Given the description of an element on the screen output the (x, y) to click on. 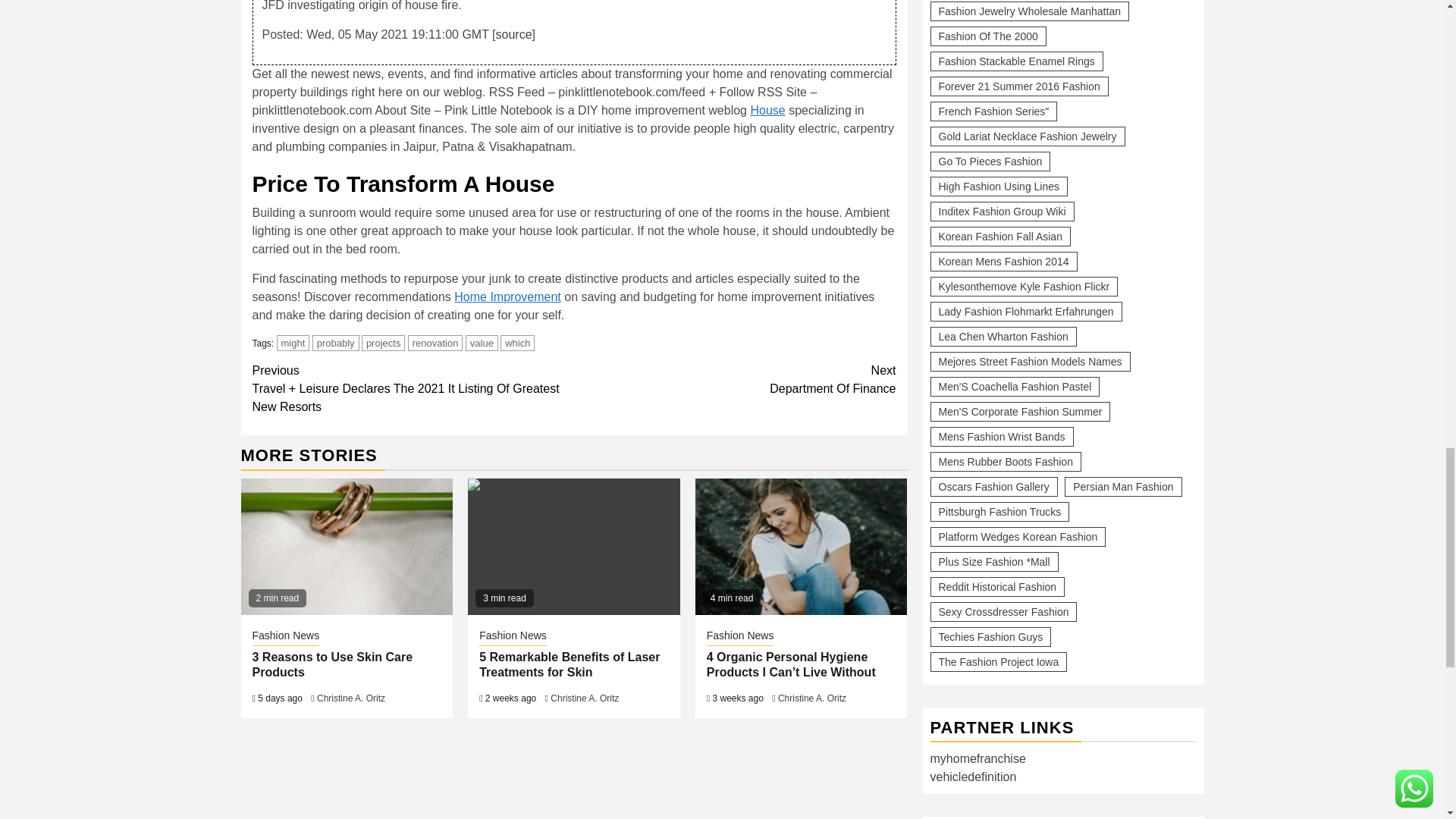
might (293, 342)
projects (383, 342)
Home Improvement (507, 296)
probably (336, 342)
value (481, 342)
House (766, 110)
renovation (435, 342)
source (514, 33)
which (517, 342)
5 Remarkable Benefits of Laser Treatments for Skin (573, 546)
